Given the description of an element on the screen output the (x, y) to click on. 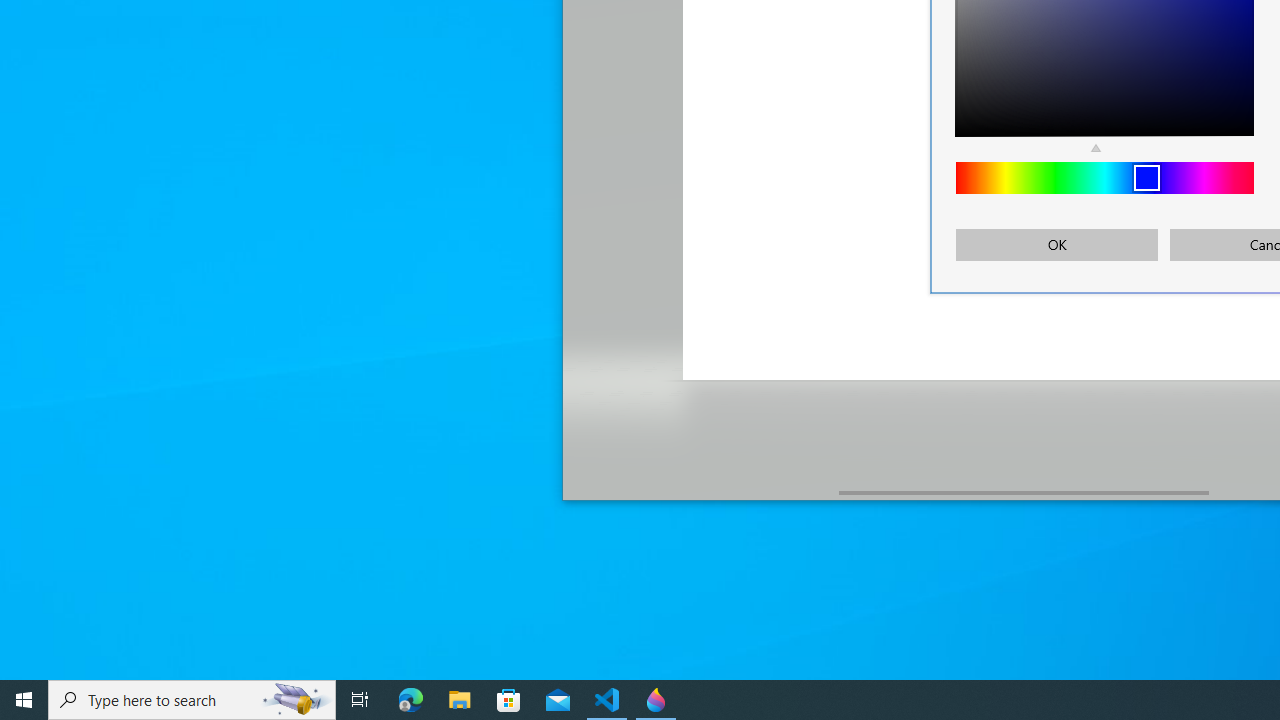
Start (24, 699)
Search highlights icon opens search home window (295, 699)
File Explorer (460, 699)
Microsoft Store (509, 699)
Task View (359, 699)
Microsoft Edge (411, 699)
Type here to search (191, 699)
Paint 3D - 1 running window (656, 699)
Visual Studio Code - 1 running window (607, 699)
